Given the description of an element on the screen output the (x, y) to click on. 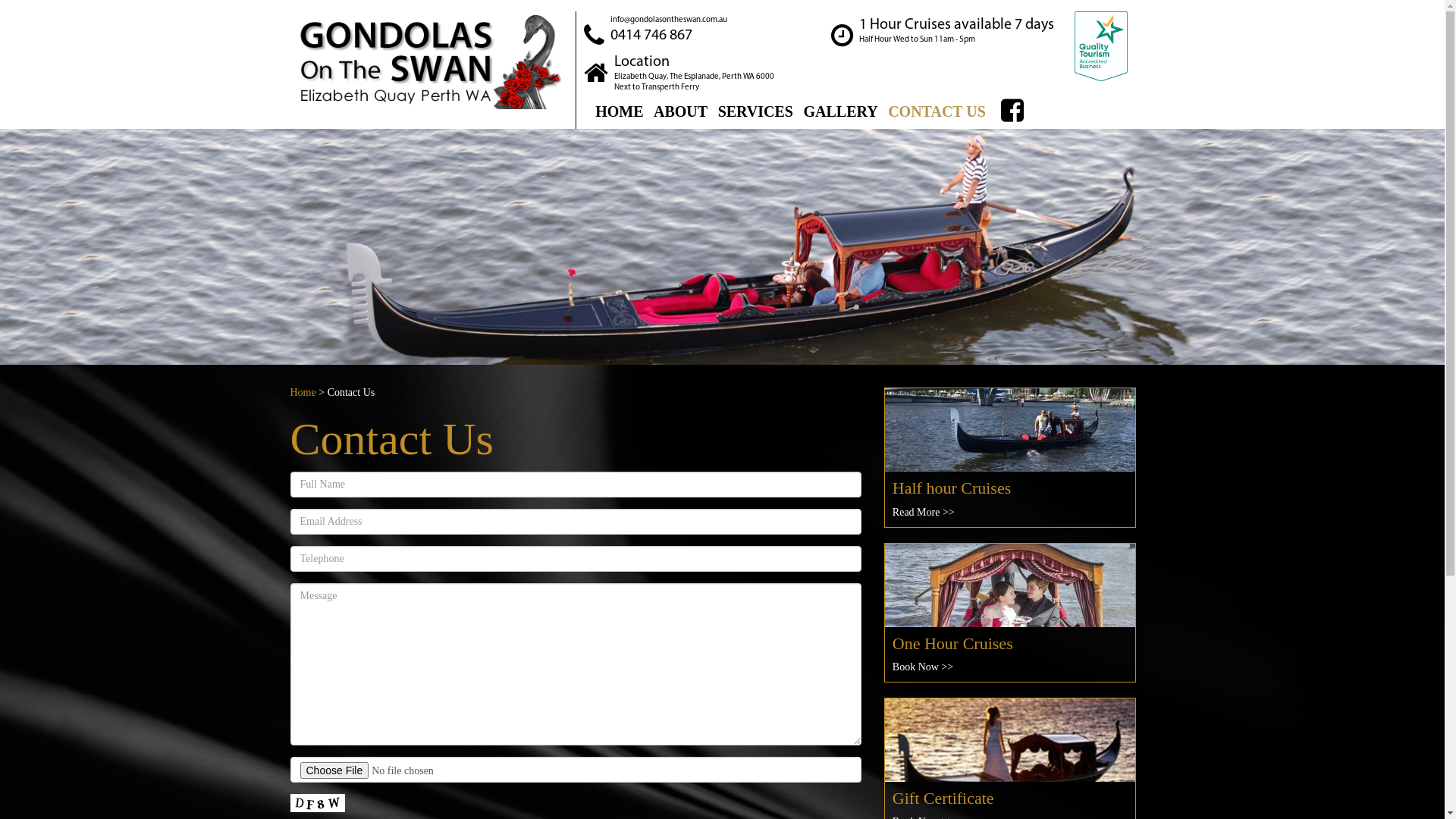
One Hour Cruises Element type: text (1009, 653)
Book Now >> Element type: text (922, 666)
SERVICES Element type: text (755, 111)
Read More >> Element type: text (923, 511)
0414 746 867 Element type: text (668, 35)
Half hour Cruises Element type: text (1009, 498)
HOME Element type: text (619, 111)
GALLERY Element type: text (840, 111)
Home Element type: text (302, 392)
ABOUT Element type: text (680, 111)
CONTACT US Element type: text (936, 111)
Location Element type: text (694, 62)
1 Hour Cruises available 7 days Element type: text (956, 24)
